Given the description of an element on the screen output the (x, y) to click on. 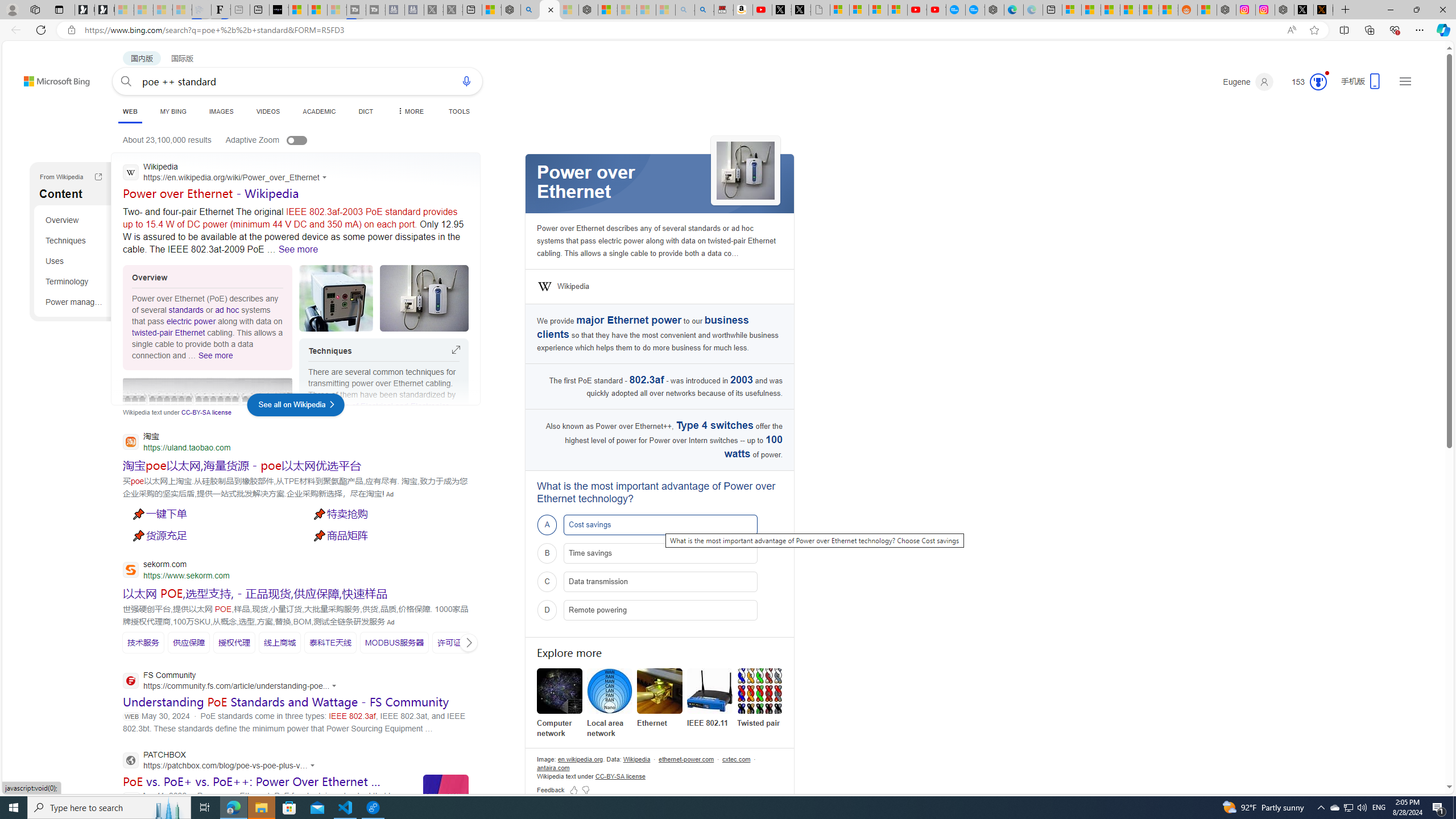
Institute of Electrical and Electronics Engineers (IEEE) (378, 411)
Twisted pair (759, 691)
Ethernet (659, 698)
SERP,5932 (456, 642)
A Cost savings (660, 524)
SERP,5928 (234, 642)
Data attribution Wikipedia (636, 758)
IMAGES (220, 111)
WEB (129, 112)
Search more (1423, 753)
B Time savings (660, 553)
